Given the description of an element on the screen output the (x, y) to click on. 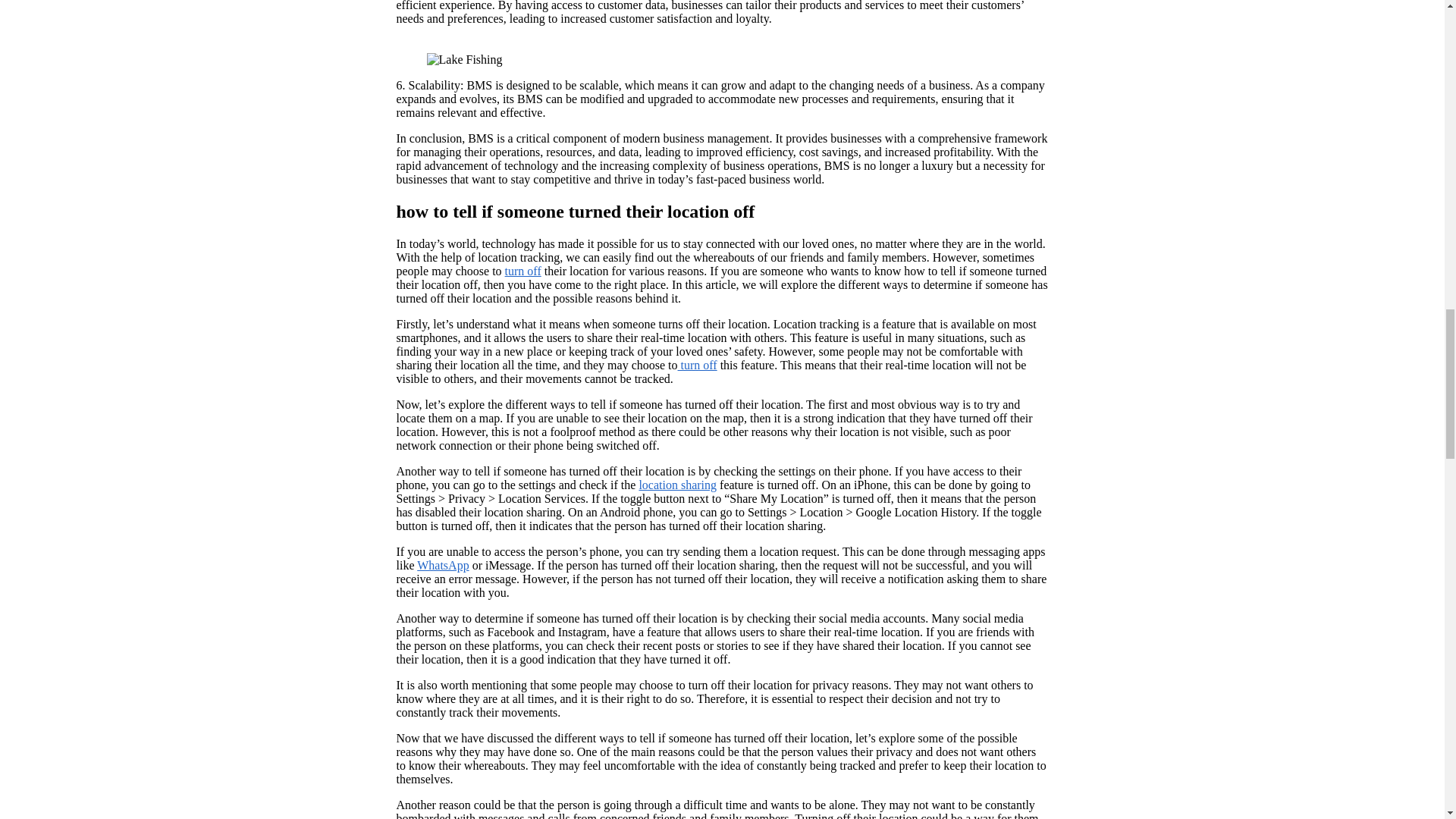
location sharing (677, 484)
WhatsApp (442, 564)
Lake Fishing (464, 59)
turn off (523, 270)
turn off (697, 364)
